Given the description of an element on the screen output the (x, y) to click on. 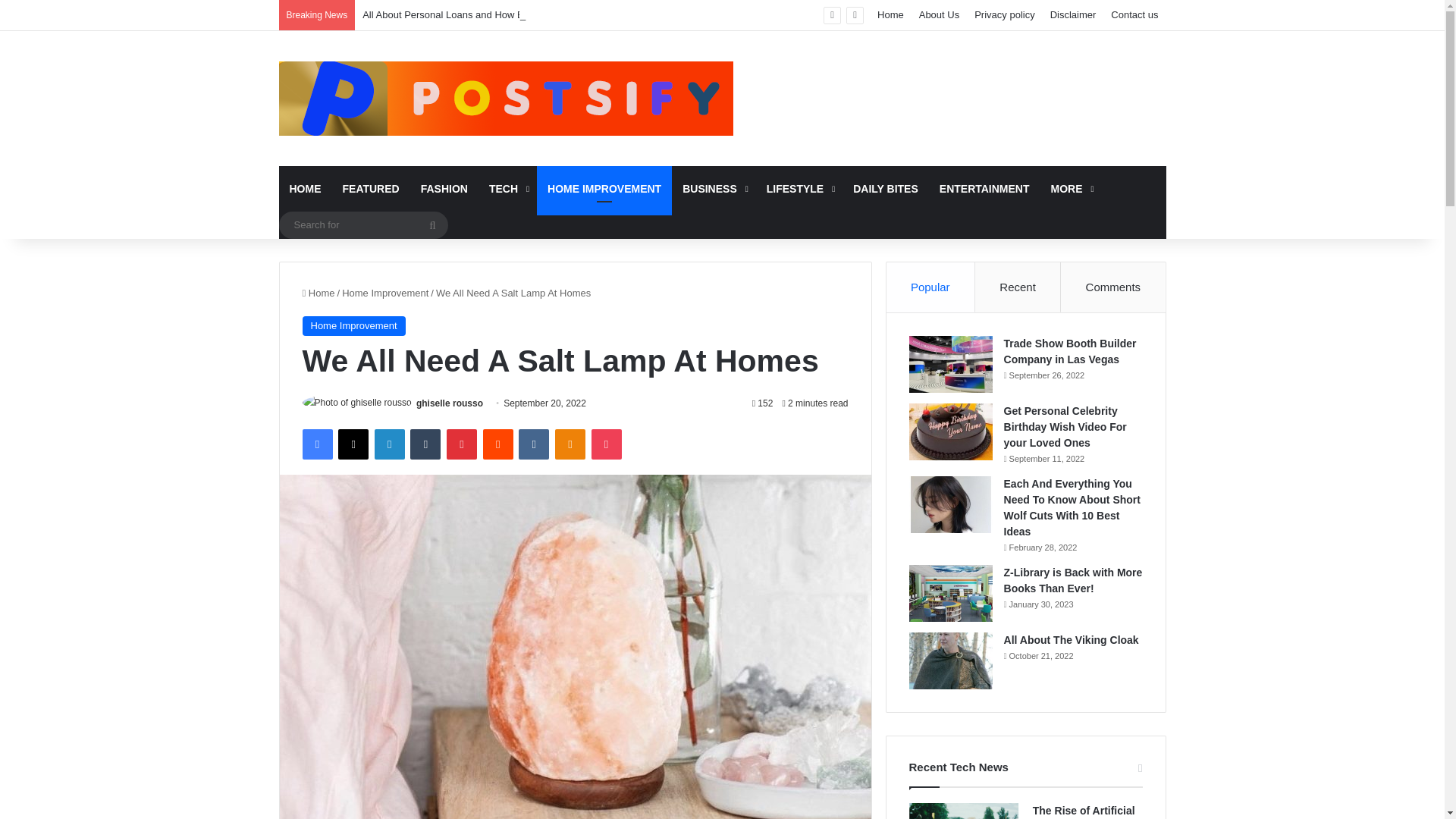
Home (317, 292)
Privacy policy (1004, 15)
LIFESTYLE (799, 188)
Contact us (1134, 15)
Odnoklassniki (569, 444)
X (352, 444)
LinkedIn (389, 444)
FEATURED (370, 188)
Facebook (316, 444)
Tumblr (425, 444)
Postsify (506, 98)
MORE (1071, 188)
ghiselle rousso (449, 403)
Home Improvement (352, 325)
